Given the description of an element on the screen output the (x, y) to click on. 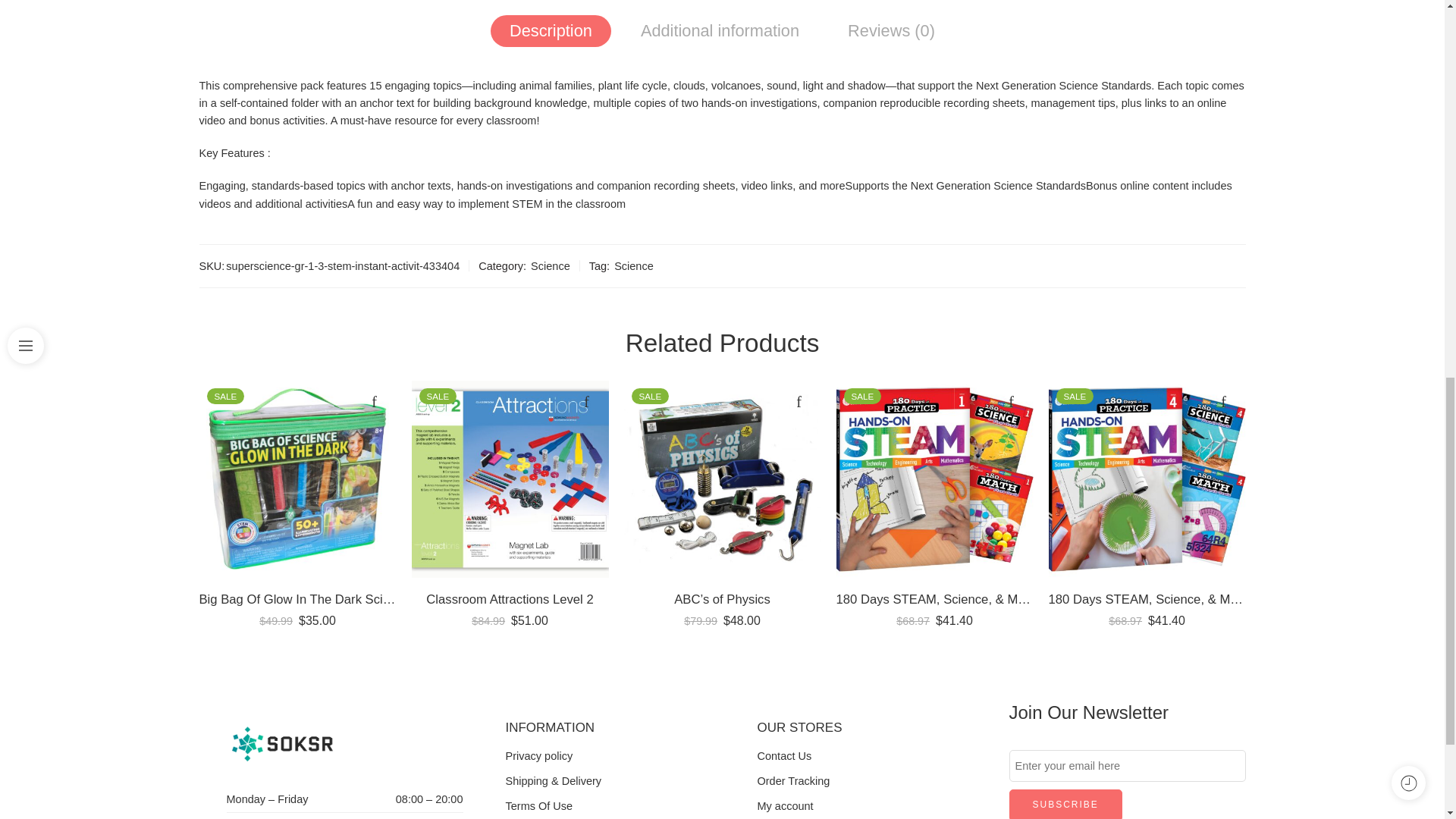
Description (550, 30)
SUBSCRIBE (1065, 804)
